Given the description of an element on the screen output the (x, y) to click on. 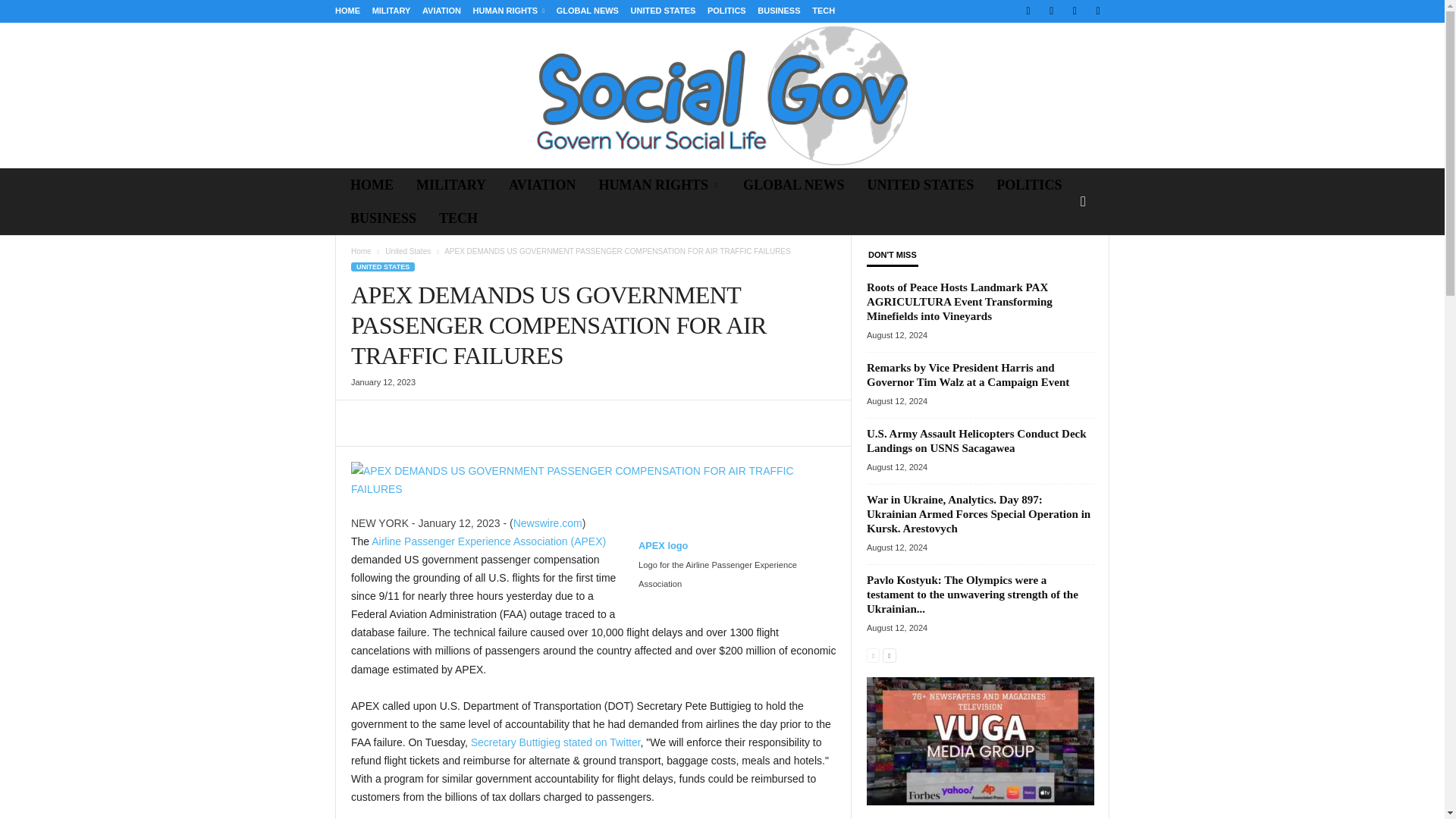
POLITICS (726, 10)
Social Gov news (721, 94)
HOME (371, 184)
UNITED STATES (662, 10)
MILITARY (450, 184)
AVIATION (541, 184)
HUMAN RIGHTS (659, 184)
POLITICS (1029, 184)
HOME (346, 10)
BUSINESS (778, 10)
